Given the description of an element on the screen output the (x, y) to click on. 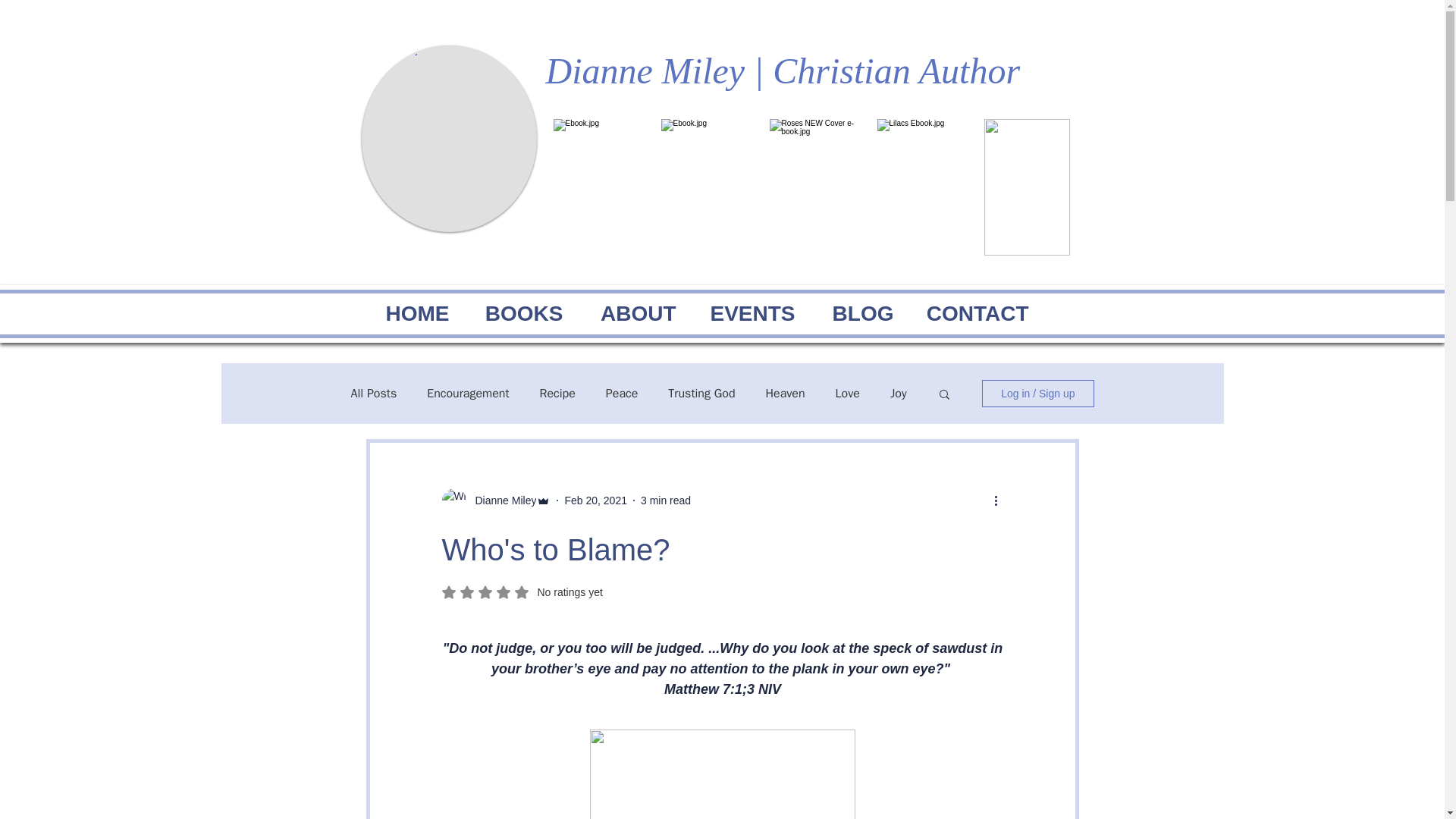
All Posts (373, 393)
BLOG (852, 313)
EVENTS (743, 313)
CONTACT (969, 313)
Feb 20, 2021 (595, 500)
HOME (403, 313)
Joy (898, 393)
Recipe (557, 393)
Encouragement (467, 393)
3 min read (665, 500)
